Given the description of an element on the screen output the (x, y) to click on. 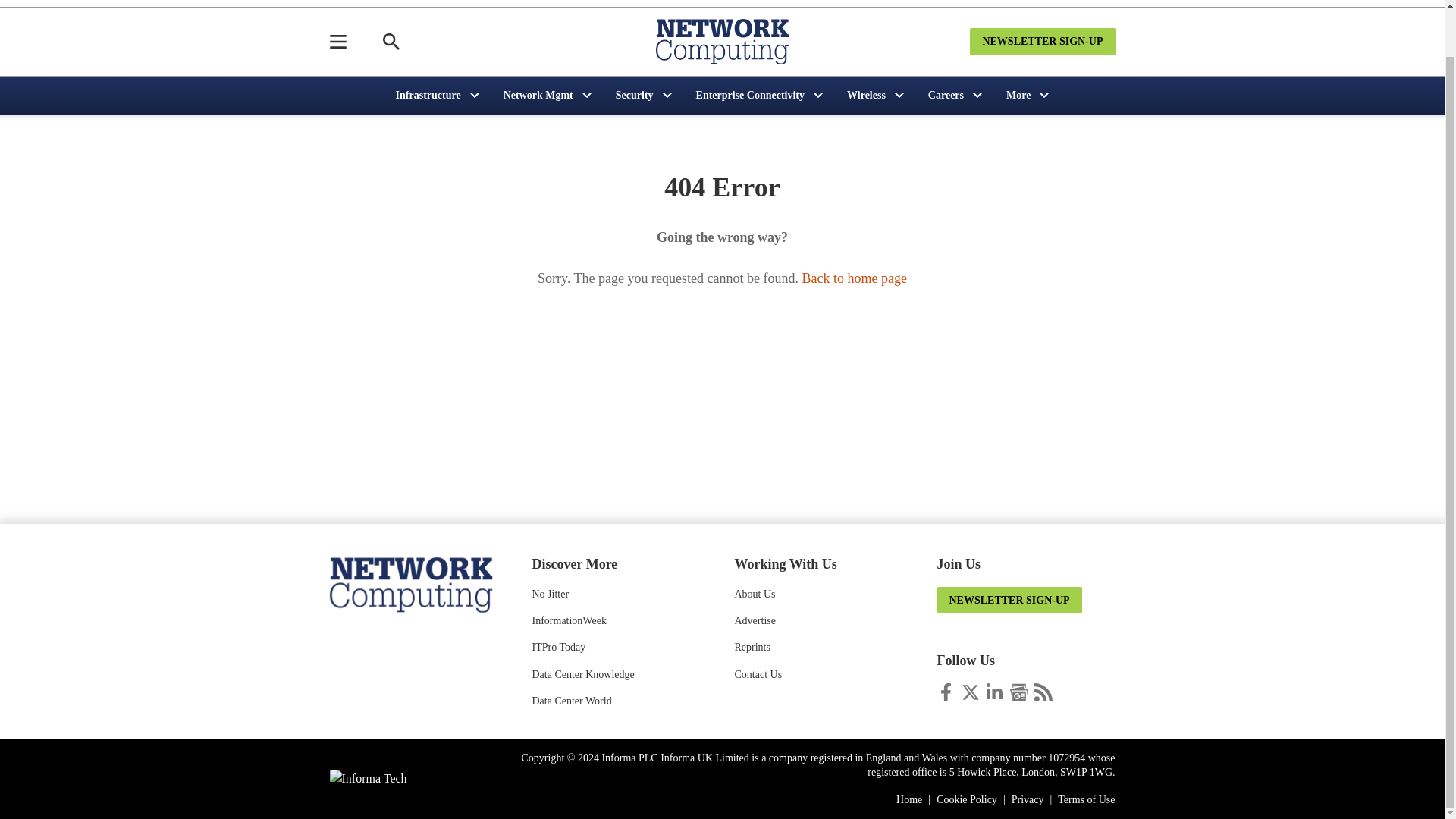
Network Computing Logo (722, 41)
NEWSLETTER SIGN-UP (1042, 40)
Network Computing (410, 583)
Informa Tech (367, 778)
